Given the description of an element on the screen output the (x, y) to click on. 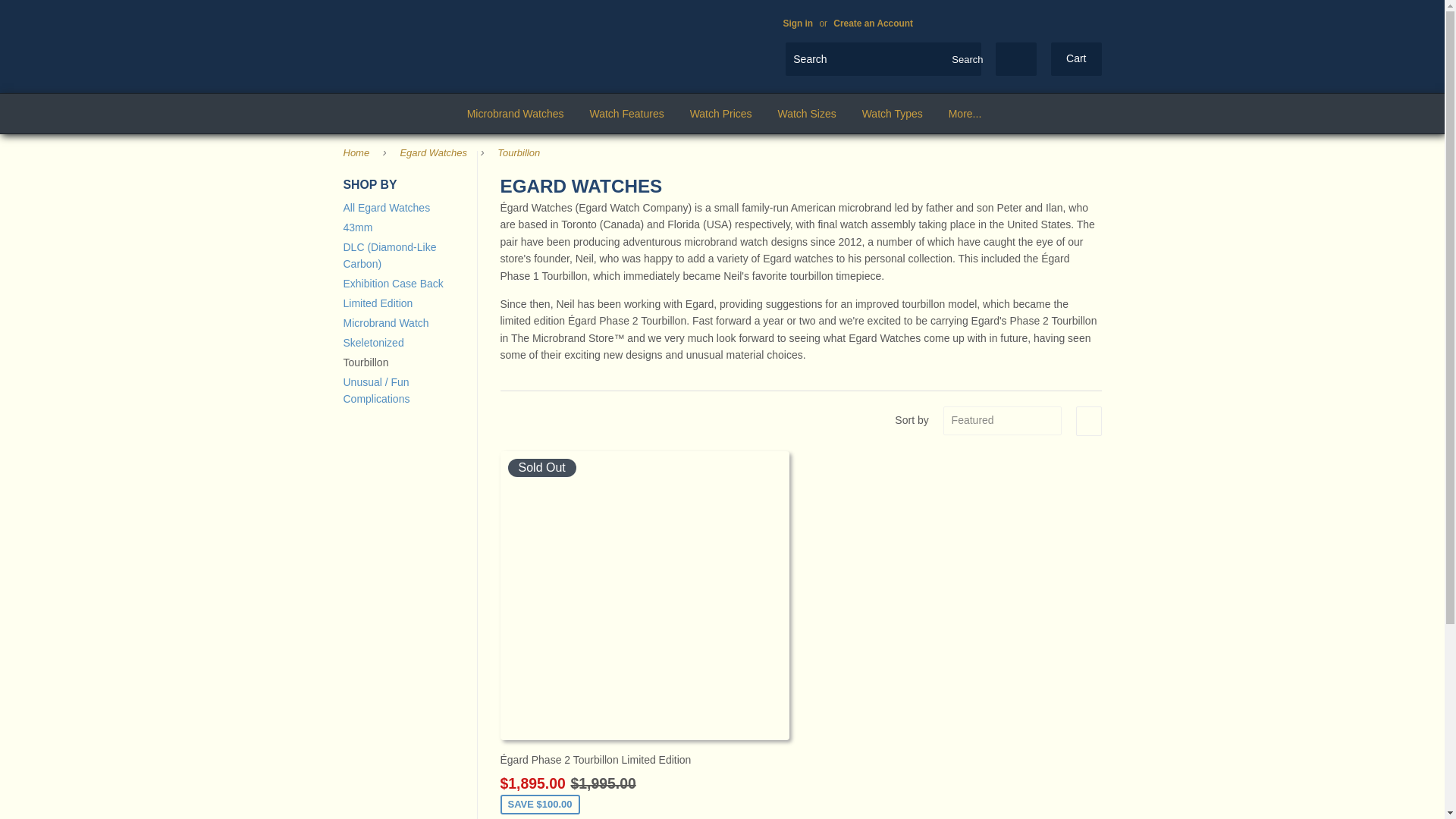
Search (964, 60)
Show products matching tag Skeletonized (372, 342)
Show products matching tag 43mm (357, 227)
My Wish List (1015, 59)
Show products matching tag Microbrand Watch (385, 322)
Create an Account (872, 23)
Cart (1075, 59)
Sign in (797, 23)
Back to the front page (358, 152)
My Shopping Cart (1075, 59)
Show products matching tag Exhibition Case Back (392, 283)
Show products matching tag Limited Edition (377, 303)
